Given the description of an element on the screen output the (x, y) to click on. 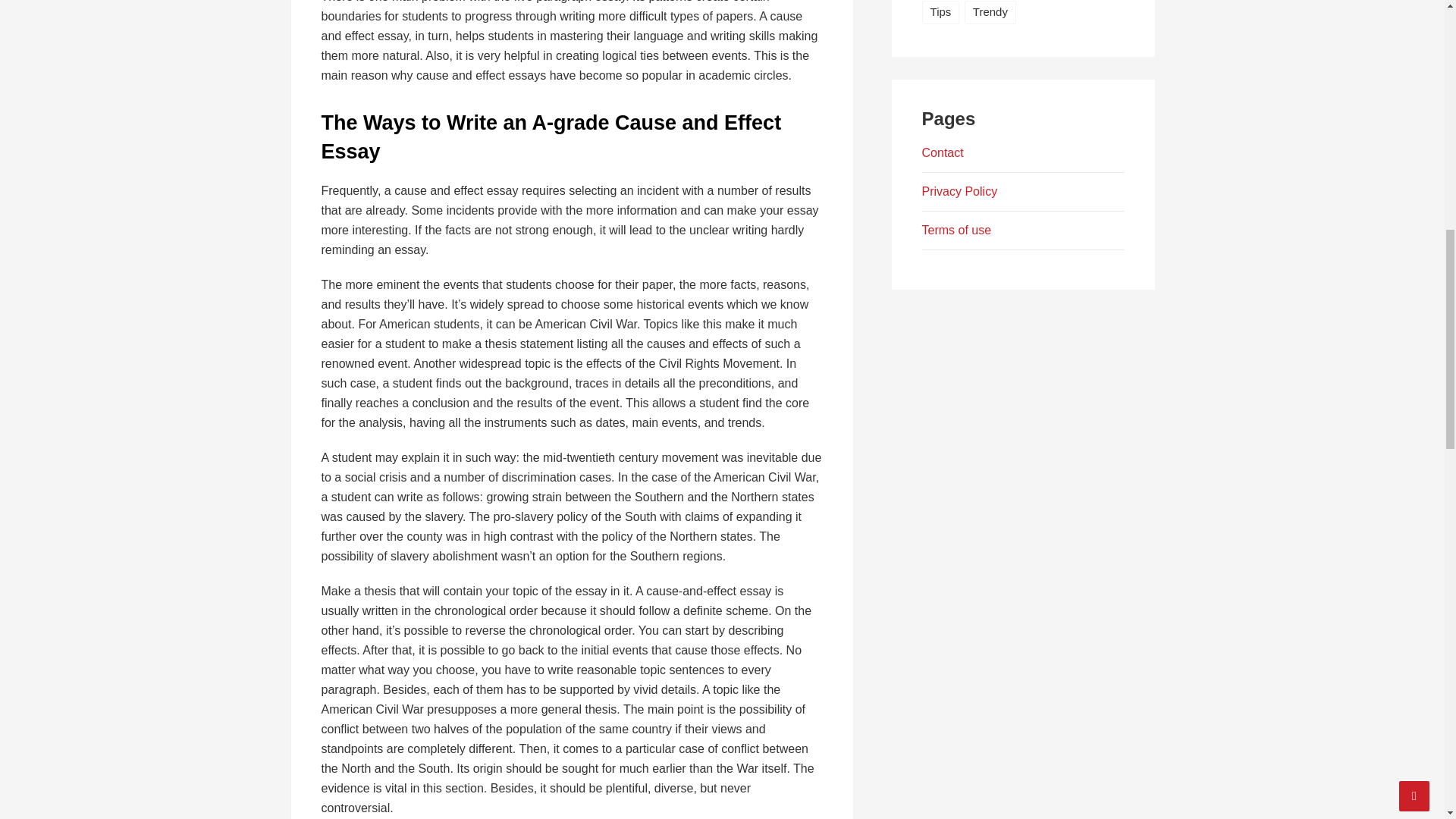
Trendy (989, 11)
Contact (942, 152)
Tips (940, 11)
Terms of use (956, 229)
Privacy Policy (959, 191)
